Given the description of an element on the screen output the (x, y) to click on. 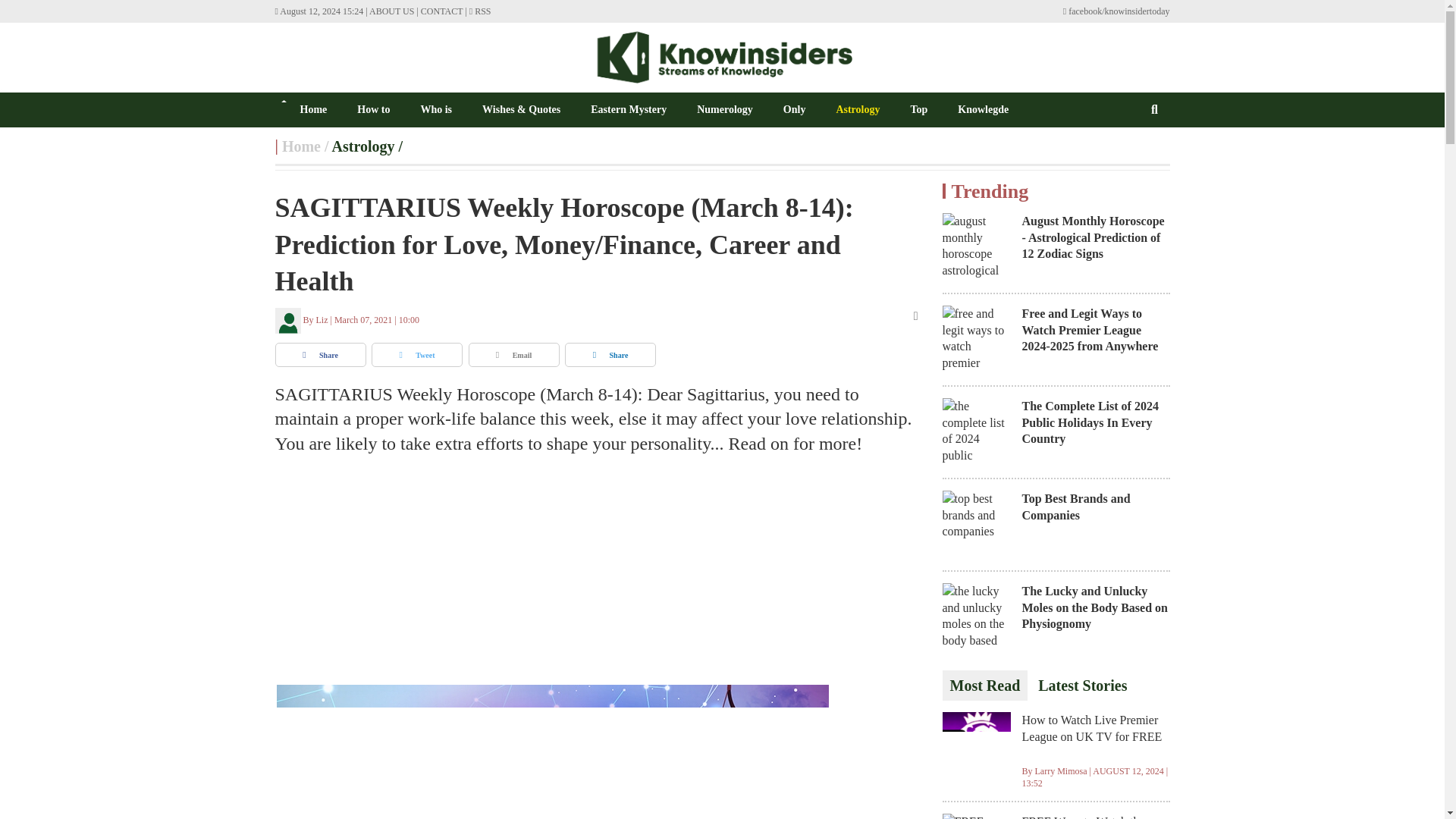
Share (320, 354)
How to (373, 109)
Share by Email (513, 354)
Tweet (417, 354)
CONTACT (441, 10)
ABOUT US (391, 10)
KnowInsiders (722, 56)
Top (918, 109)
Knowlegde (983, 109)
RSS (480, 10)
